Given the description of an element on the screen output the (x, y) to click on. 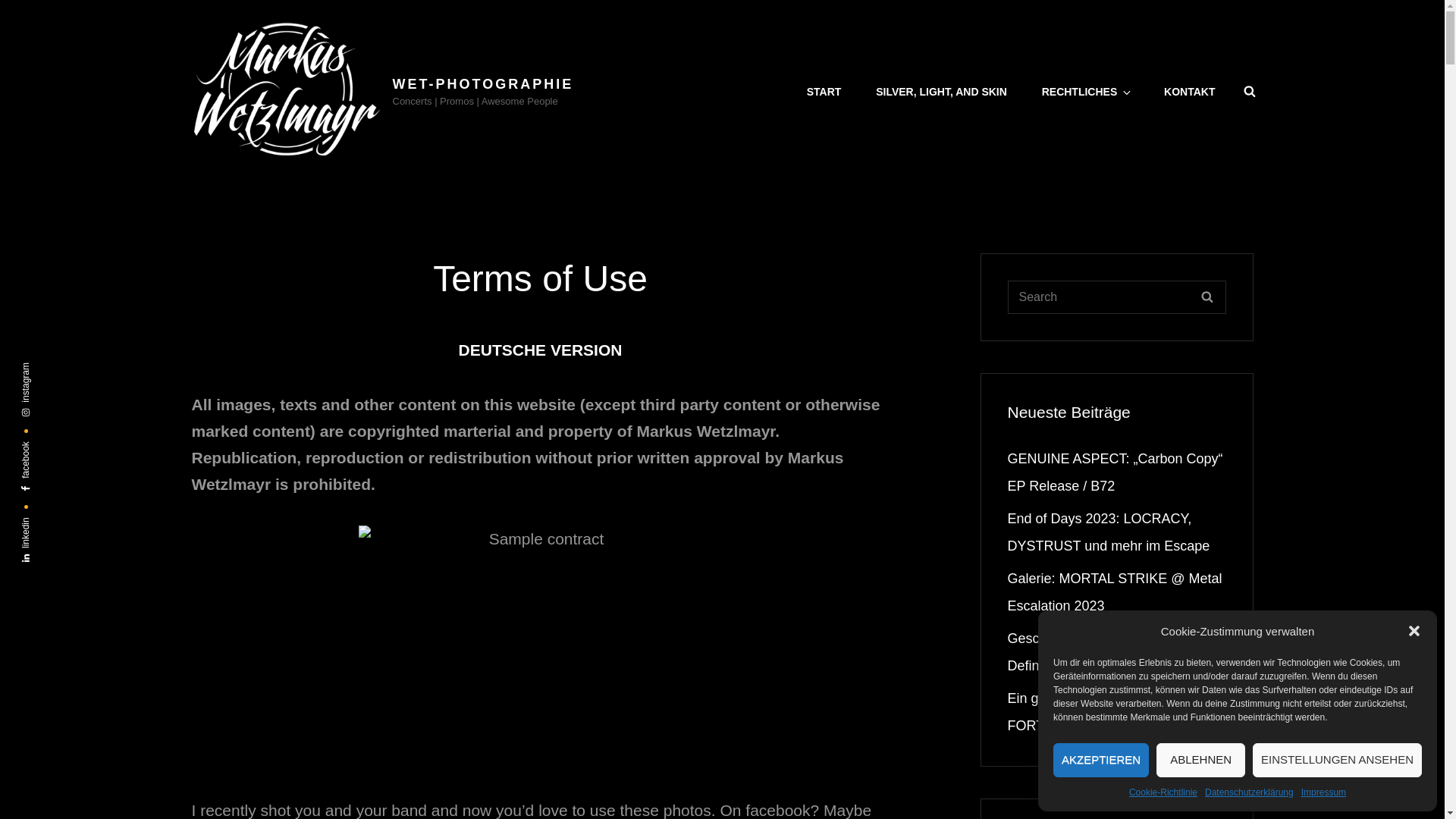
facebook (43, 448)
KONTAKT (1189, 91)
Nutzungsbedingungen (540, 349)
SEARCH (1207, 296)
Impressum (1323, 792)
EINSTELLUNGEN ANSEHEN (1337, 759)
WET-PHOTOGRAPHIE (483, 83)
ABLEHNEN (1200, 759)
SEARCH (1249, 91)
End of Days 2023: LOCRACY, DYSTRUST und mehr im Escape (1108, 532)
SILVER, LIGHT, AND SKIN (941, 91)
Cookie-Richtlinie (1162, 792)
DEUTSCHE VERSION (540, 349)
linkedin (40, 524)
instagram (44, 369)
